Given the description of an element on the screen output the (x, y) to click on. 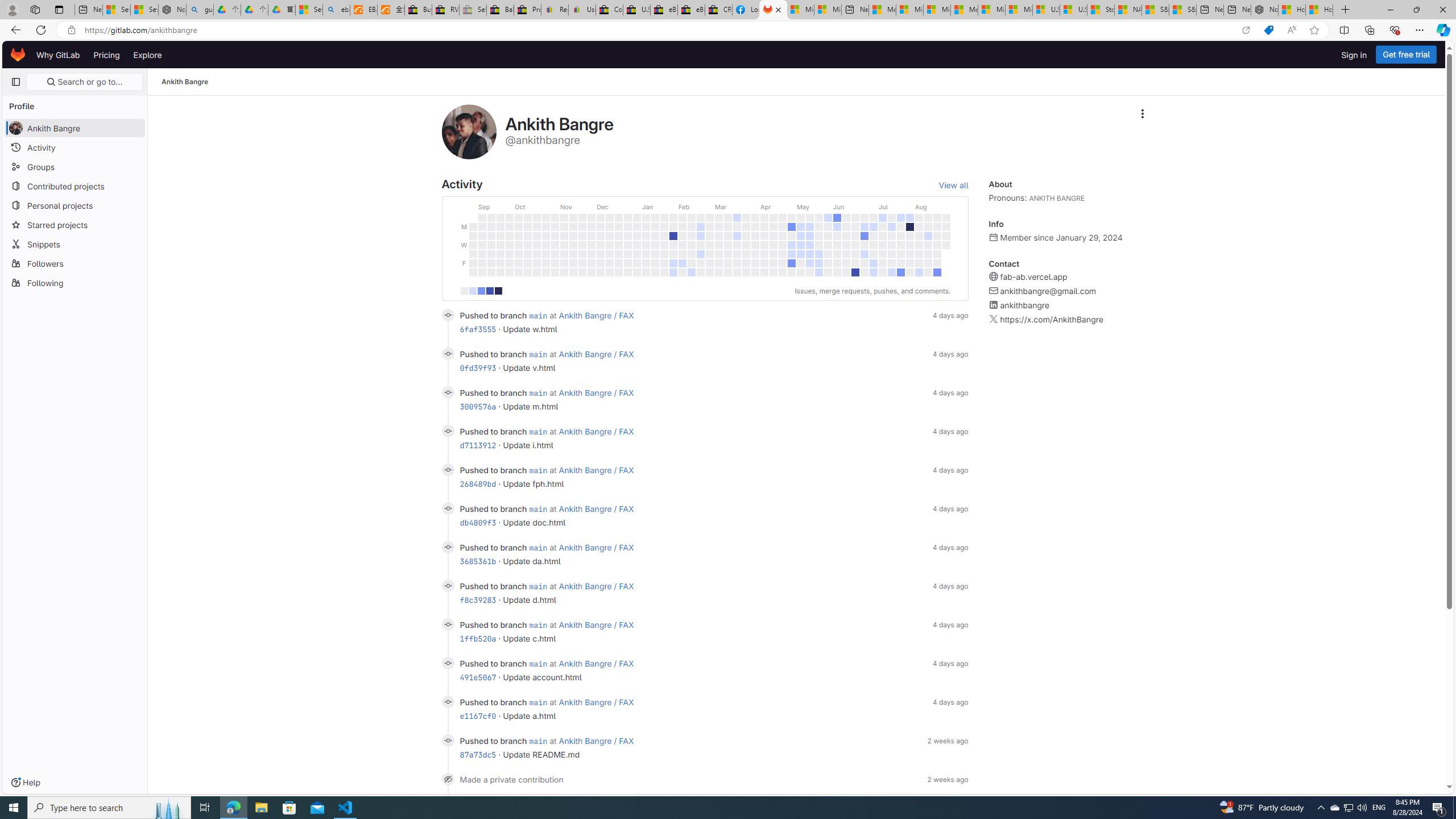
View site information (70, 29)
